Given the description of an element on the screen output the (x, y) to click on. 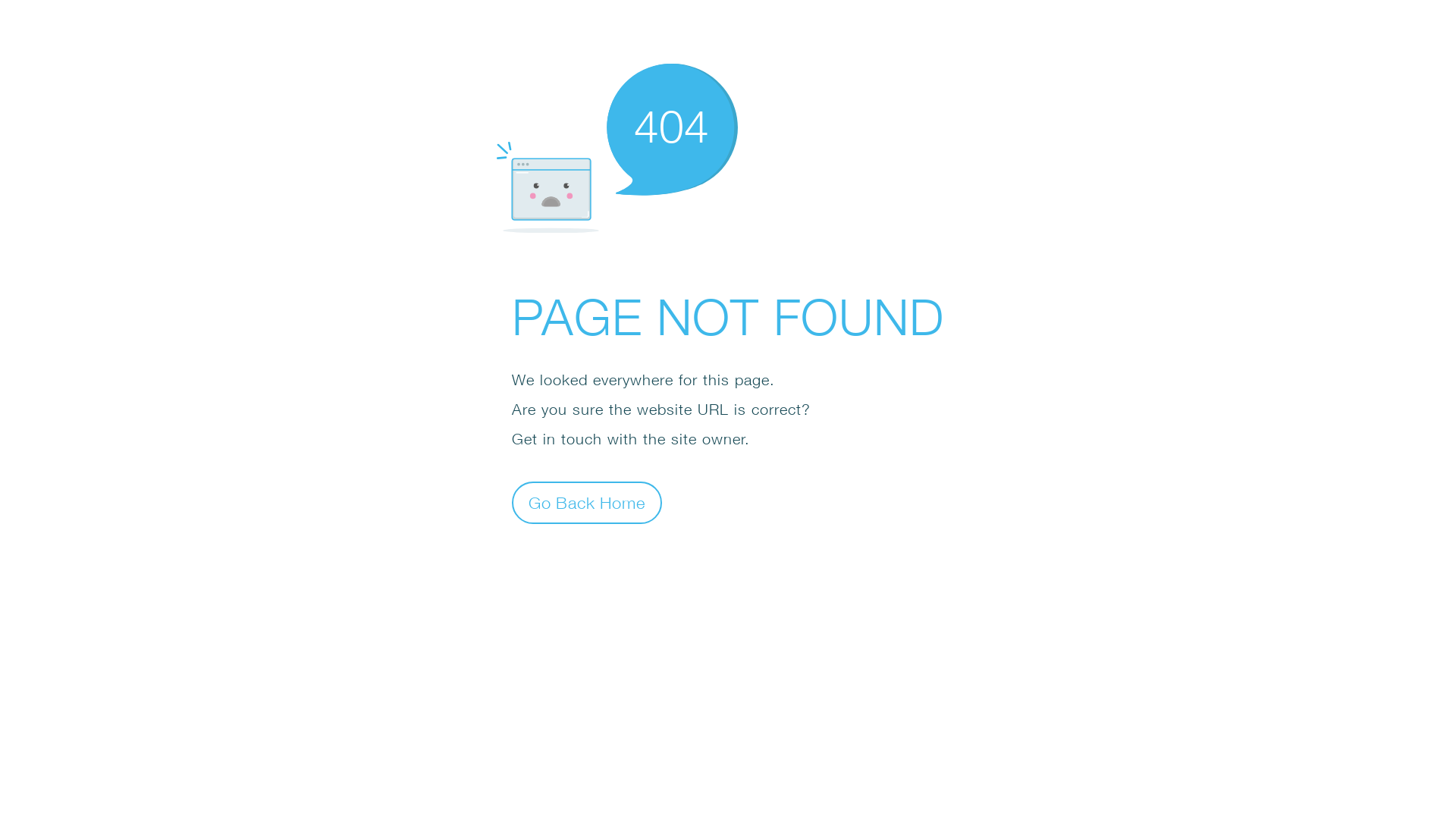
Go Back Home Element type: text (586, 502)
